Given the description of an element on the screen output the (x, y) to click on. 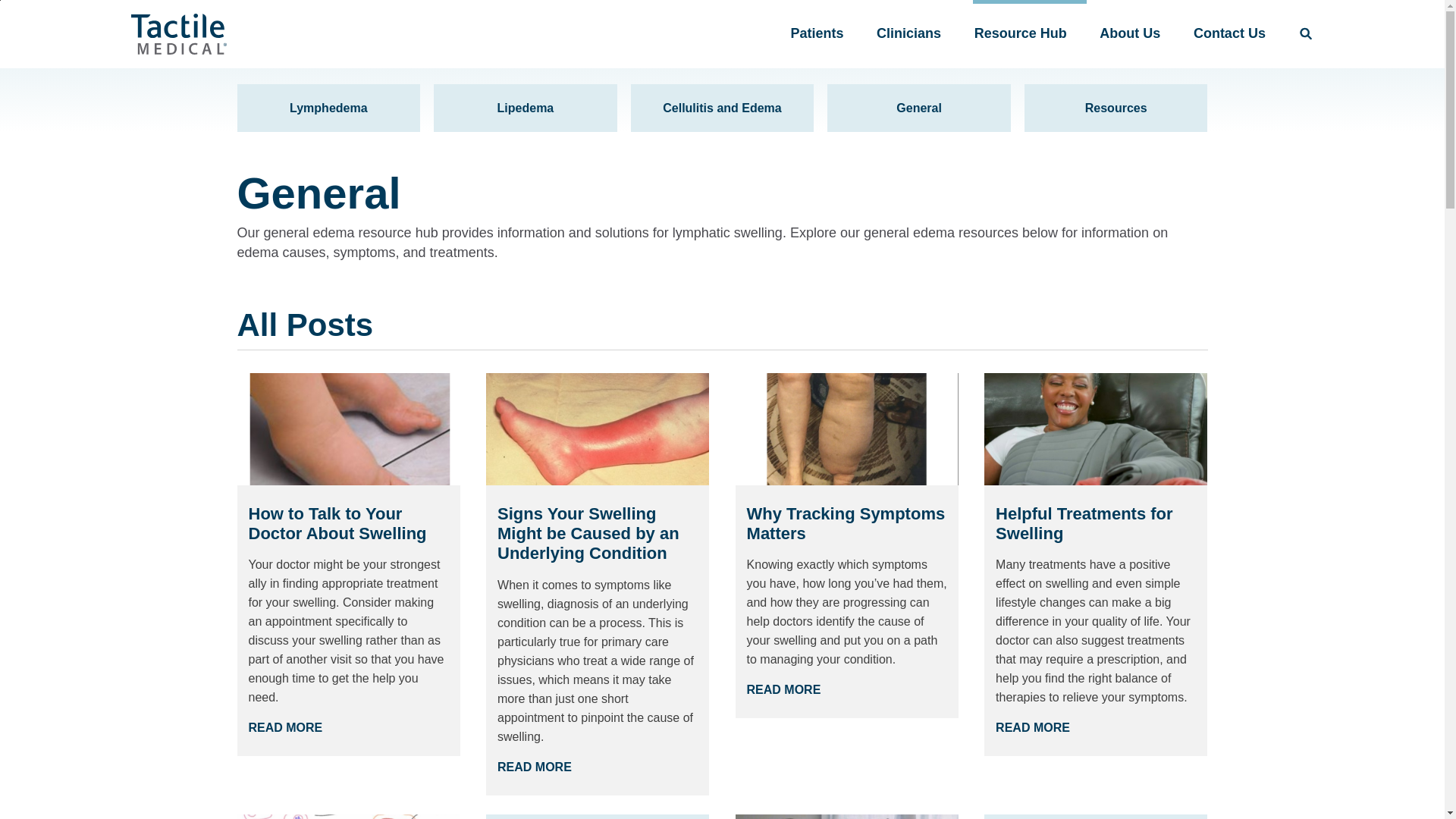
Patients (816, 33)
Clinicians (908, 33)
